Given the description of an element on the screen output the (x, y) to click on. 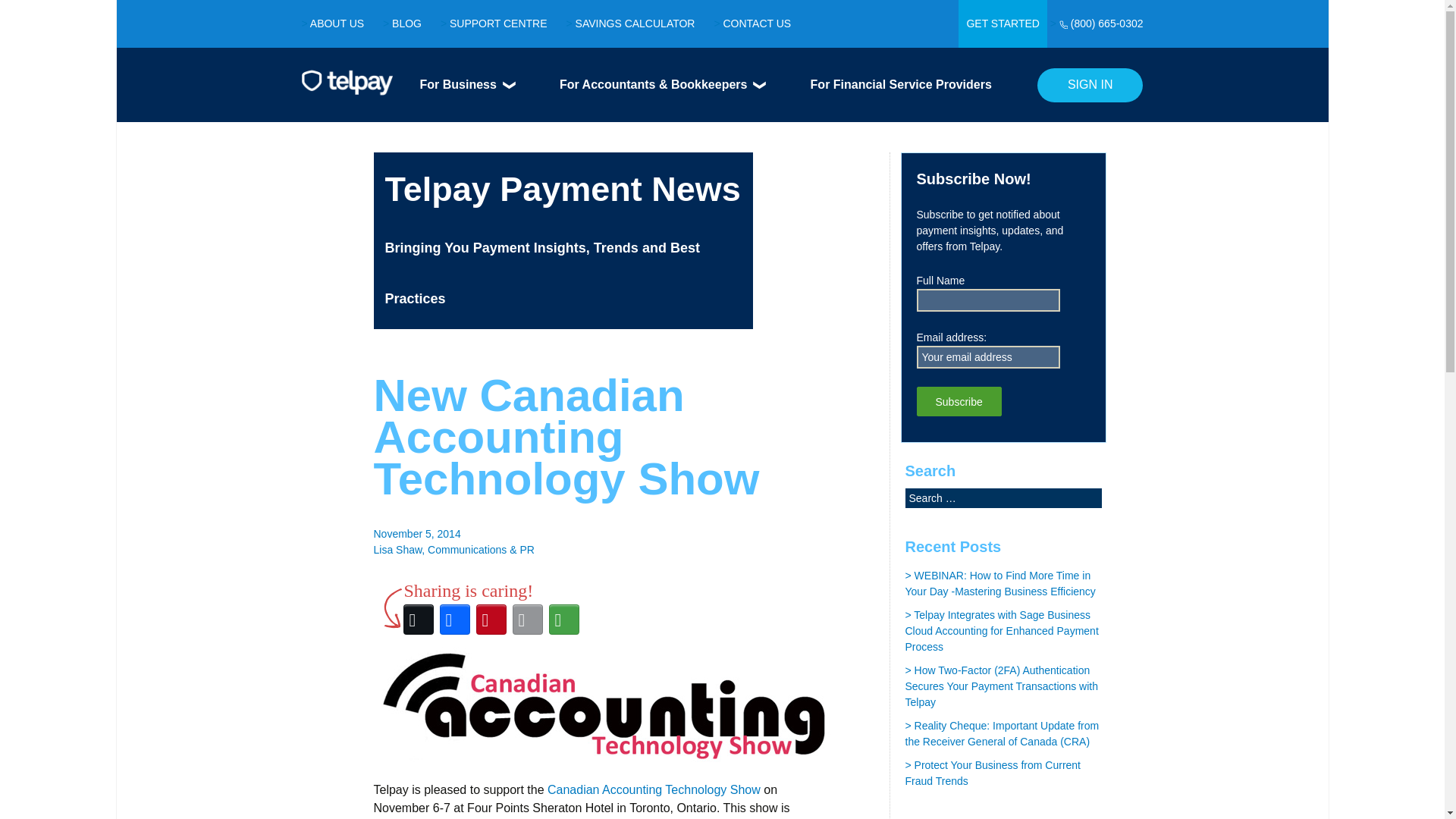
SIGN IN (1089, 84)
return to home page (563, 188)
Telpay (347, 88)
Permalink to New Canadian Accounting Technology Show (416, 533)
November 5, 2014 (416, 533)
BLOG (406, 23)
SUPPORT CENTRE (498, 23)
SAVINGS CALCULATOR (635, 23)
Telpay Payment News (563, 188)
ABOUT US (337, 23)
